Given the description of an element on the screen output the (x, y) to click on. 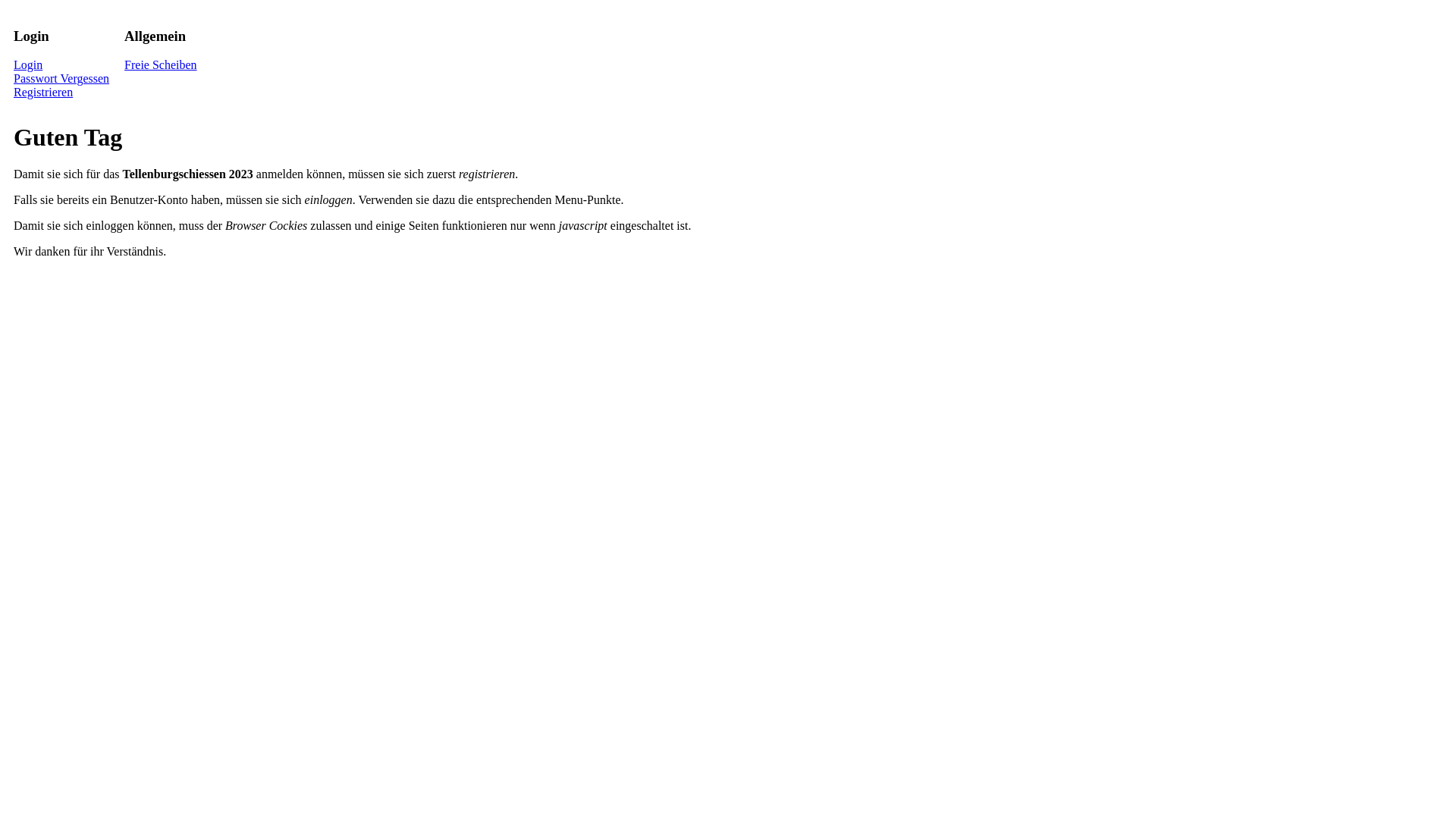
Registrieren Element type: text (42, 91)
Freie Scheiben Element type: text (160, 64)
Passwort Vergessen Element type: text (61, 78)
Login Element type: text (27, 64)
